Given the description of an element on the screen output the (x, y) to click on. 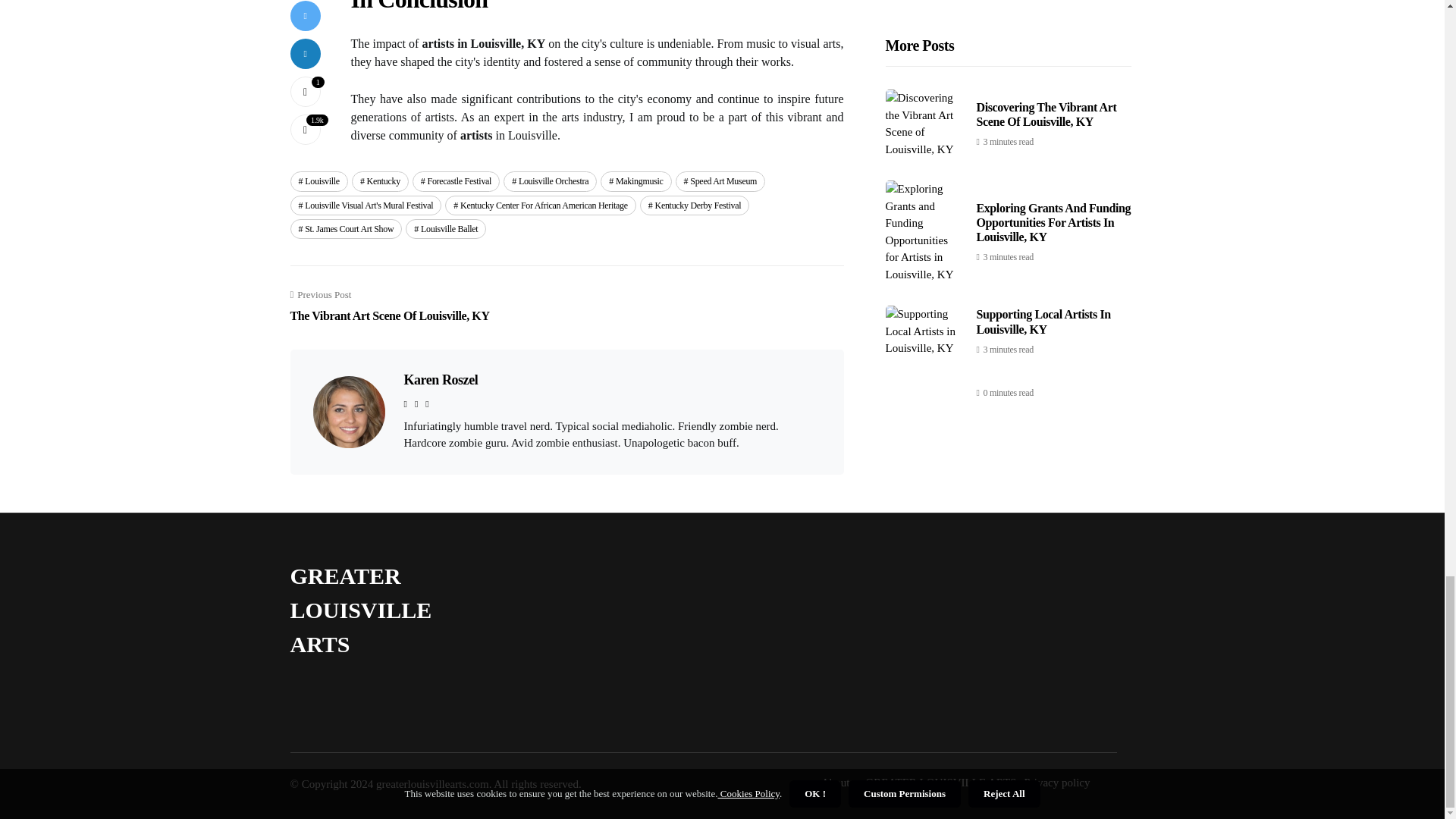
Louisville Visual Art'S Mural Festival (365, 205)
St. James Court Art Show (345, 229)
Kentucky (389, 306)
Kentucky Derby Festival (380, 180)
Kentucky Center For African American Heritage (694, 205)
Louisville (539, 205)
Makingmusic (318, 180)
Speed Art Museum (635, 180)
Louisville Orchestra (720, 180)
Forecastle Festival (549, 180)
Karen Roszel (455, 180)
Louisville Ballet (440, 379)
